Given the description of an element on the screen output the (x, y) to click on. 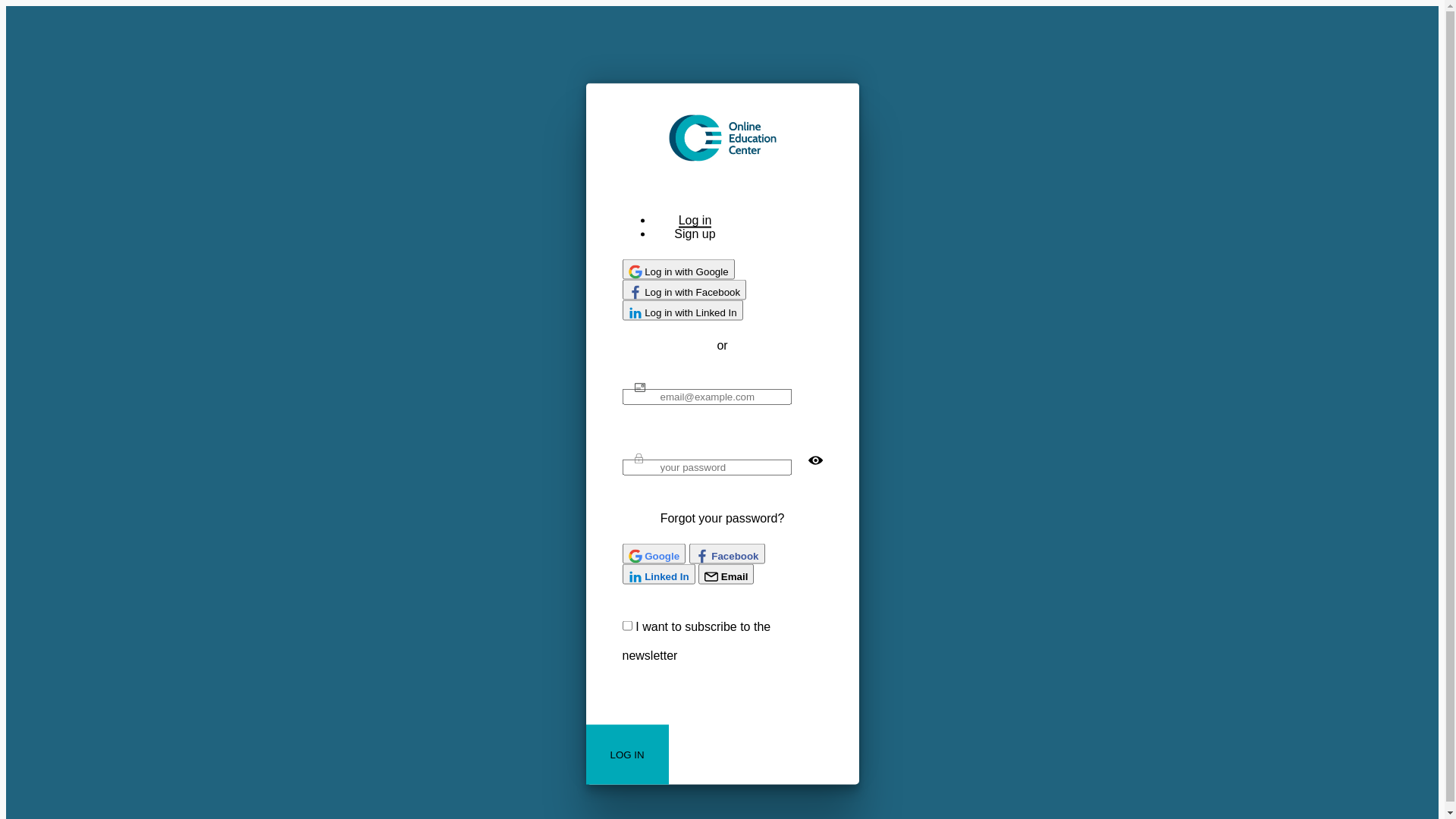
Log in with Google Element type: text (677, 268)
Log in Element type: text (695, 220)
Linked In Element type: text (657, 573)
Email Element type: text (725, 573)
Forgot your password? Element type: text (722, 517)
LOG IN Element type: text (626, 754)
Facebook Element type: text (727, 552)
Log in with Facebook Element type: text (683, 289)
Log in with Linked In Element type: text (681, 309)
Sign up Element type: text (694, 232)
Google Element type: text (653, 552)
